Given the description of an element on the screen output the (x, y) to click on. 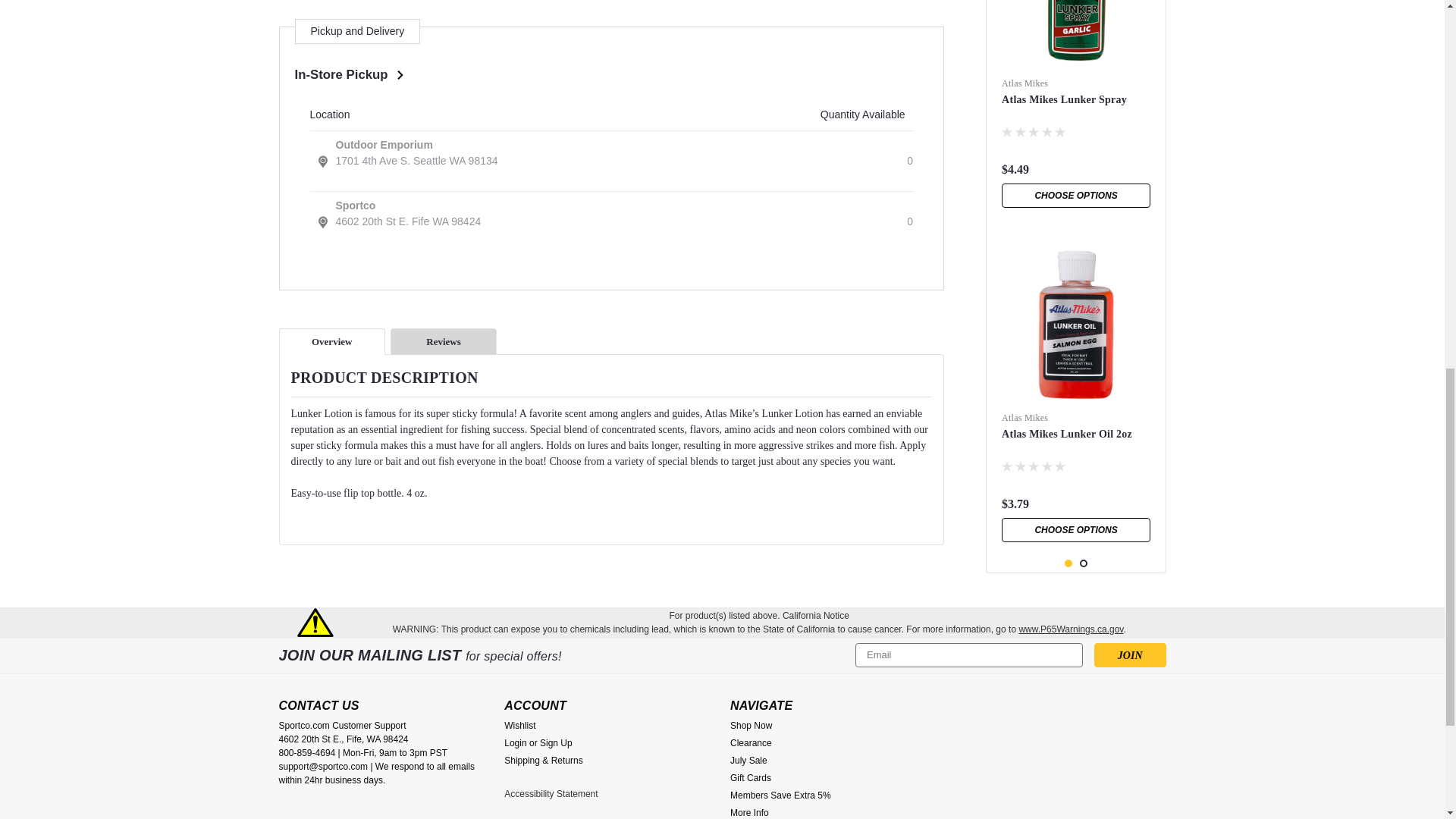
Atlas Mikes Lunker Spray (1075, 35)
Atlas Mikes Lunker Oil 2oz (1075, 323)
Join (1130, 654)
